Given the description of an element on the screen output the (x, y) to click on. 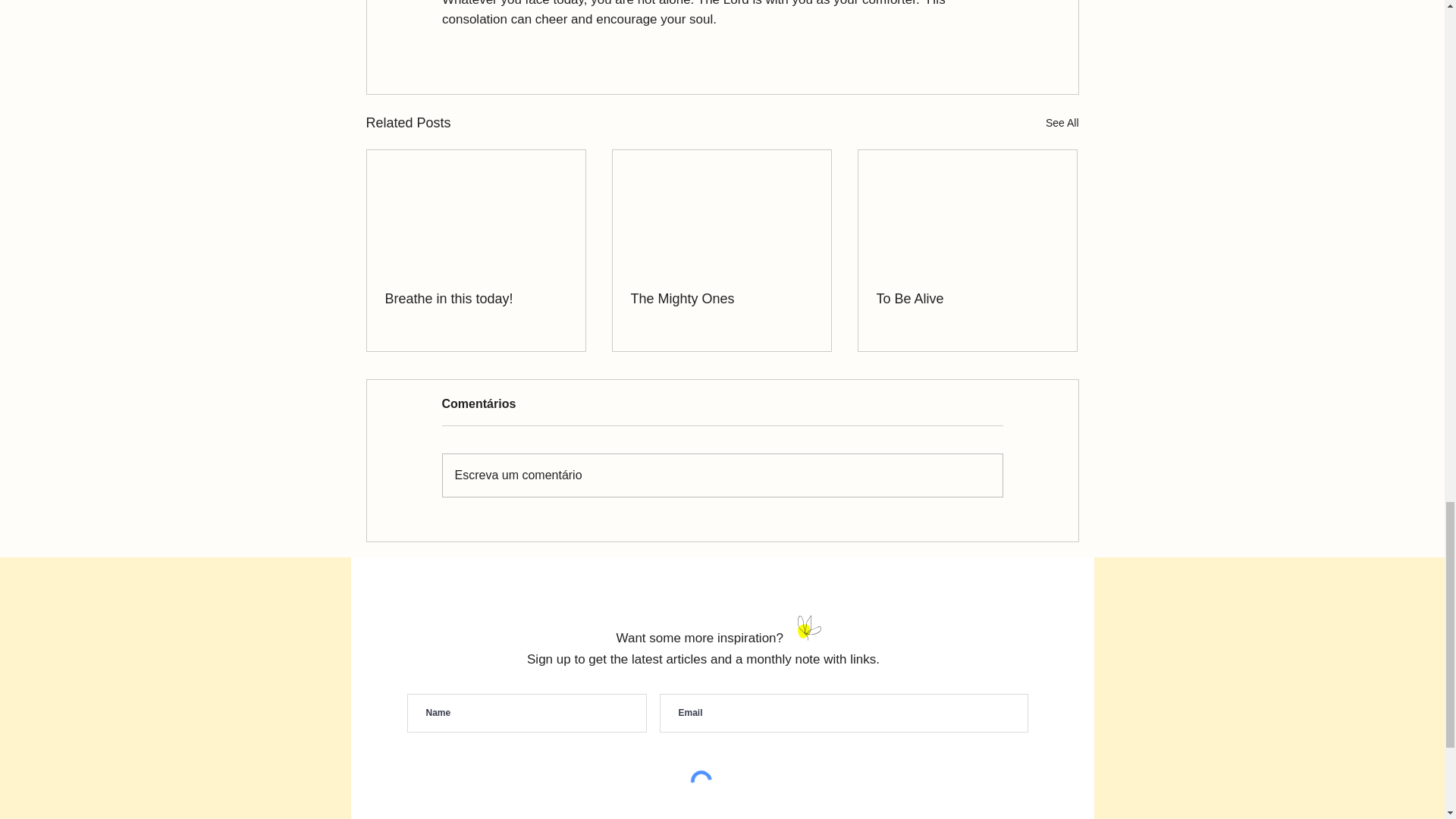
Breathe in this today! (476, 299)
The Mighty Ones (721, 299)
To Be Alive (967, 299)
See All (1061, 123)
